Given the description of an element on the screen output the (x, y) to click on. 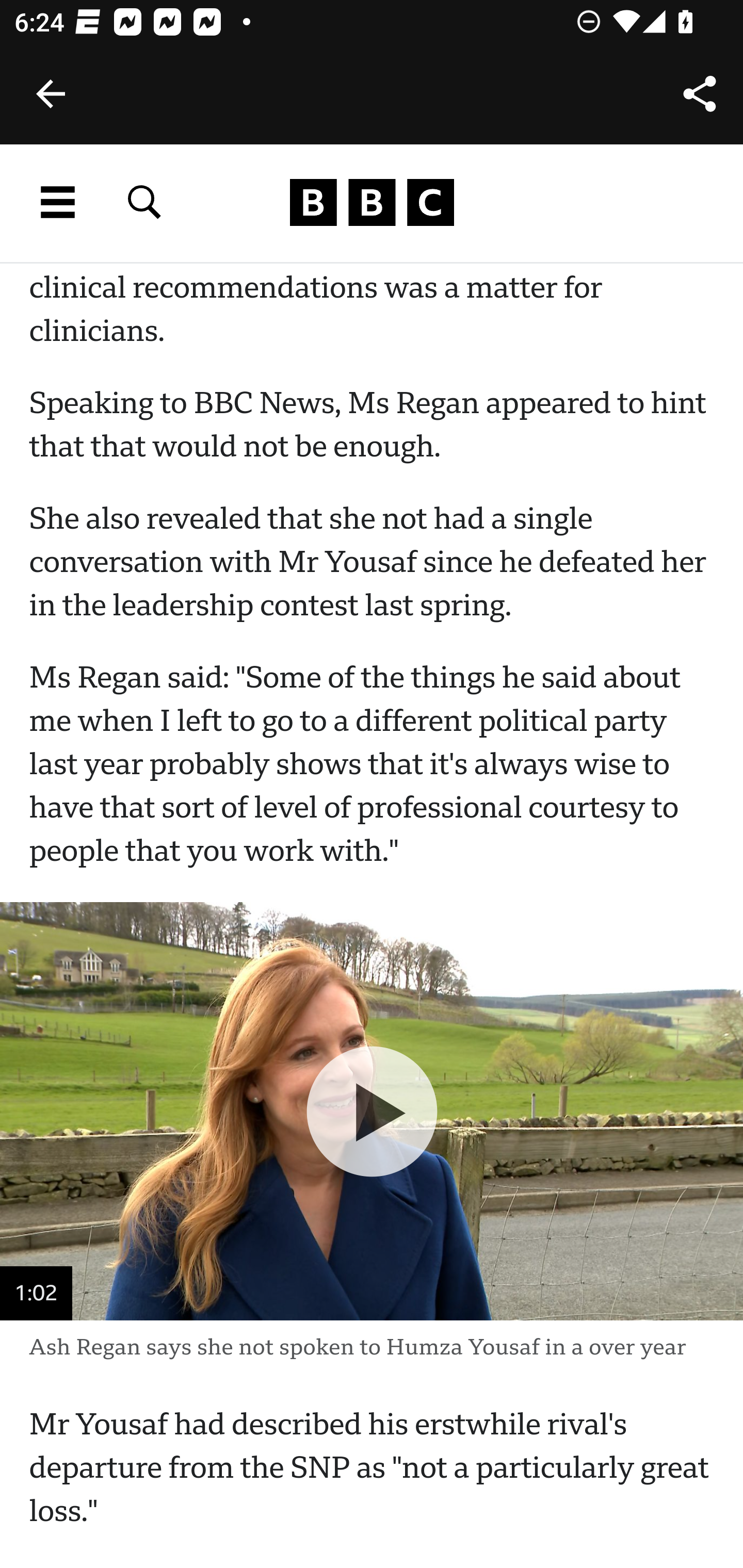
Back (50, 93)
Share (699, 93)
www.bbc (371, 203)
